Given the description of an element on the screen output the (x, y) to click on. 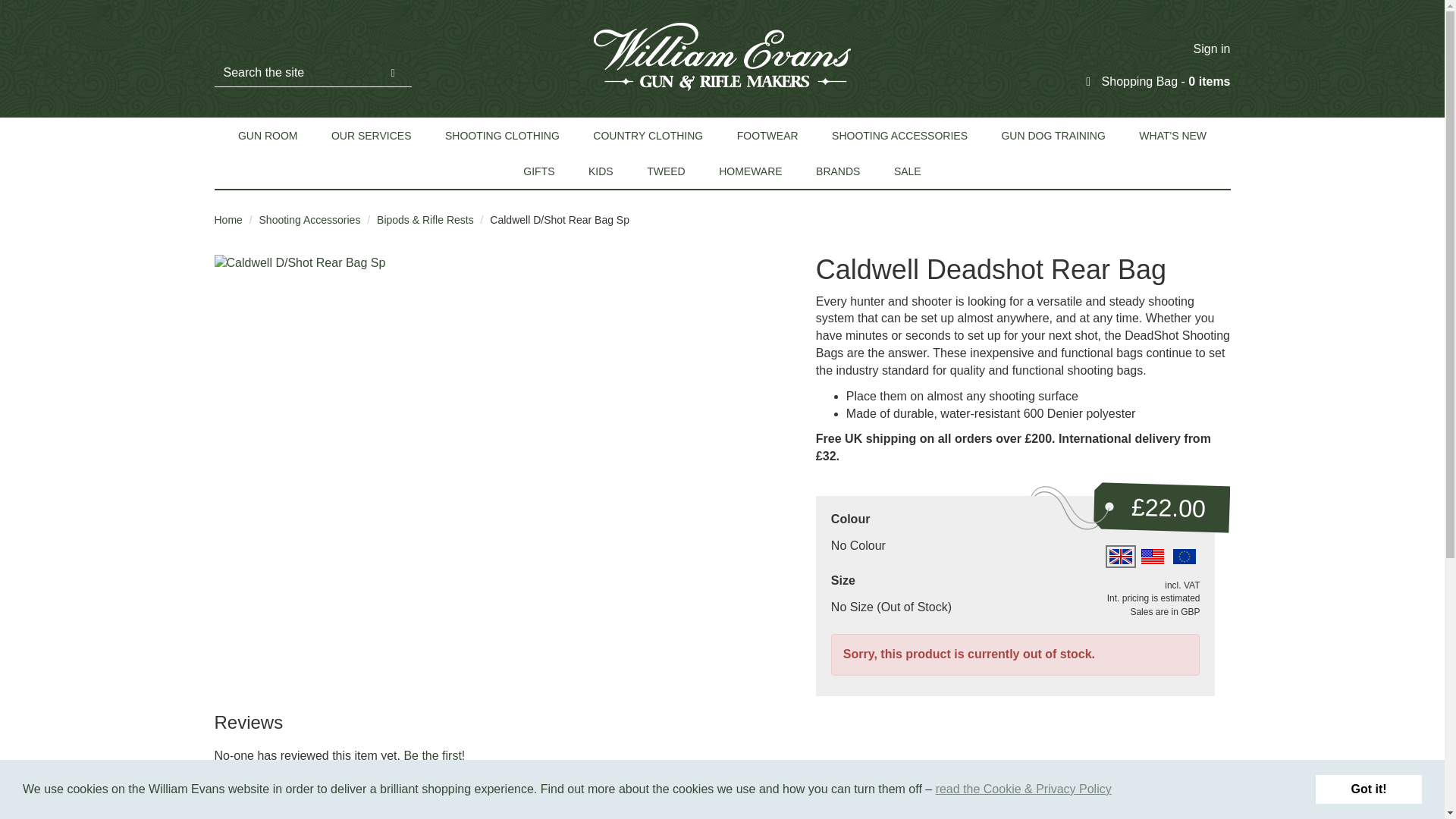
Footwear  (767, 135)
Country Clothing (647, 135)
Shooting Clothing (501, 135)
Shooting Accessories (899, 135)
Our Services (371, 135)
Gun Room (267, 135)
